Given the description of an element on the screen output the (x, y) to click on. 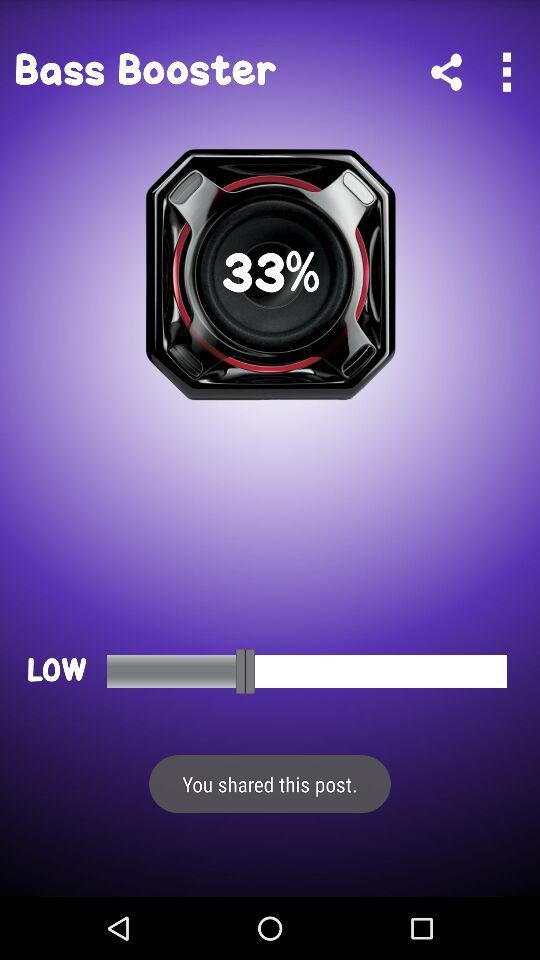
go to search (506, 72)
